Given the description of an element on the screen output the (x, y) to click on. 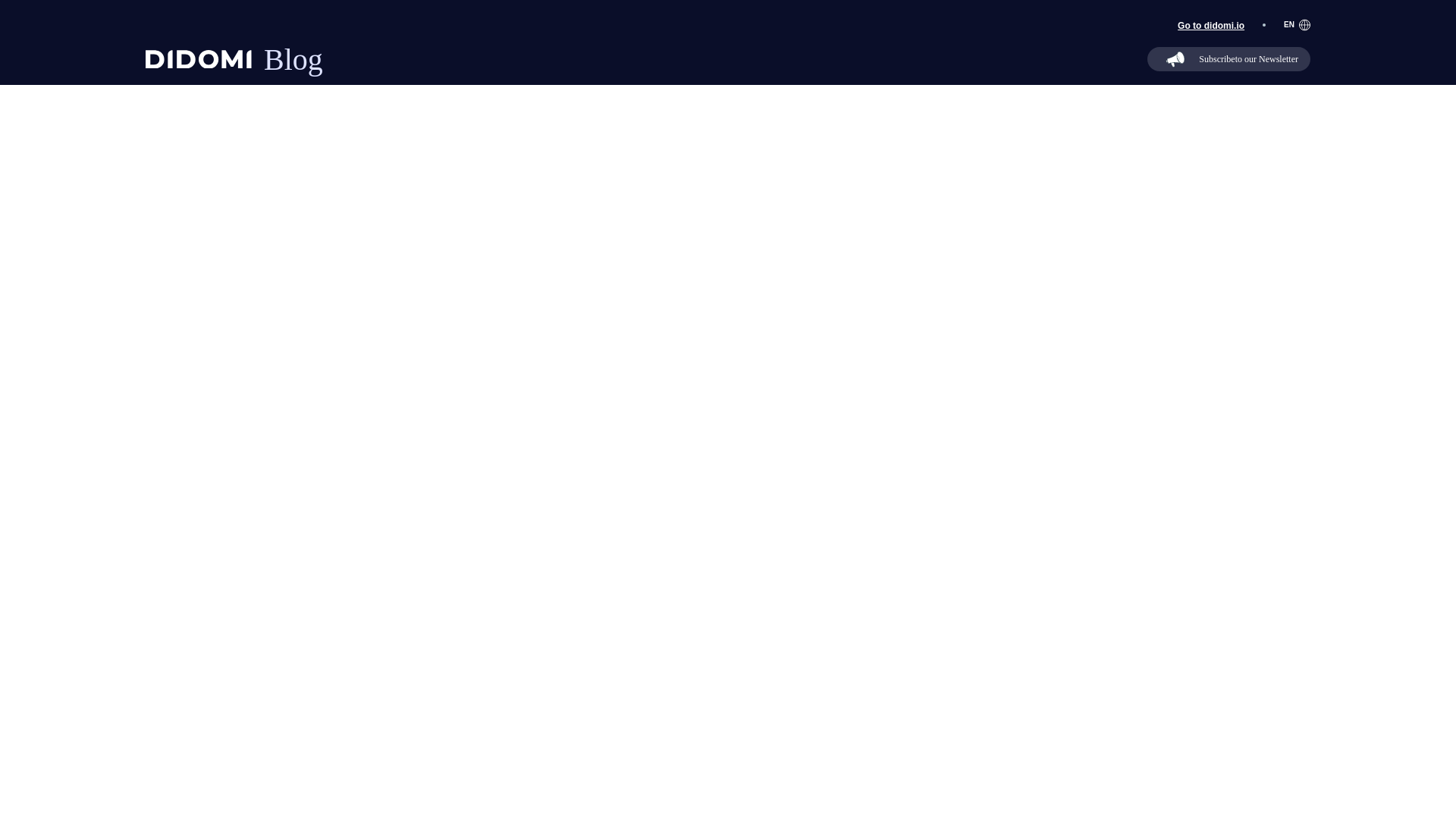
Blog (1228, 58)
Go to didomi.io (260, 58)
